Given the description of an element on the screen output the (x, y) to click on. 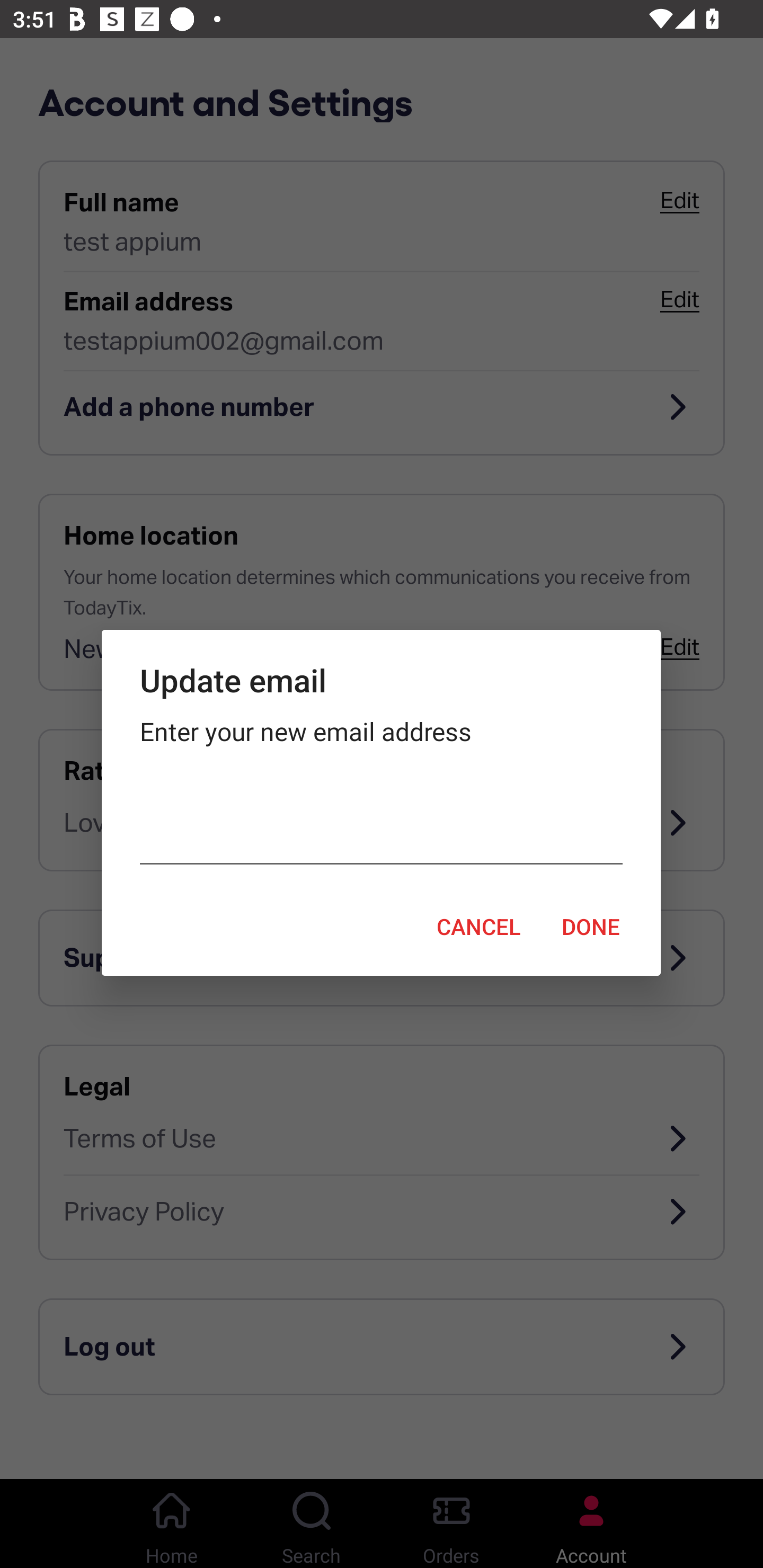
CANCEL (478, 926)
DONE (590, 926)
